Given the description of an element on the screen output the (x, y) to click on. 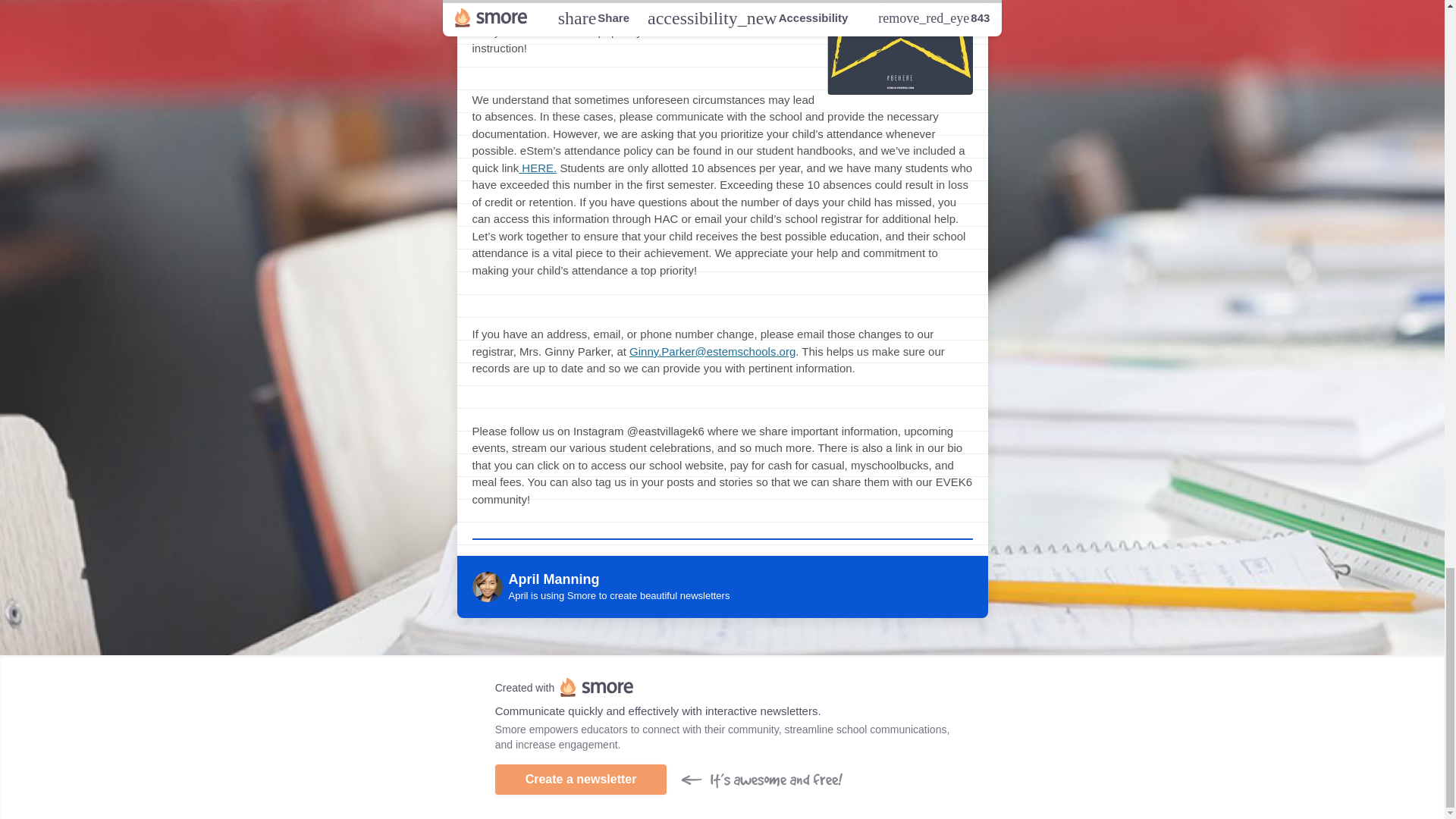
Create a newsletter (580, 779)
HERE. (537, 167)
